Given the description of an element on the screen output the (x, y) to click on. 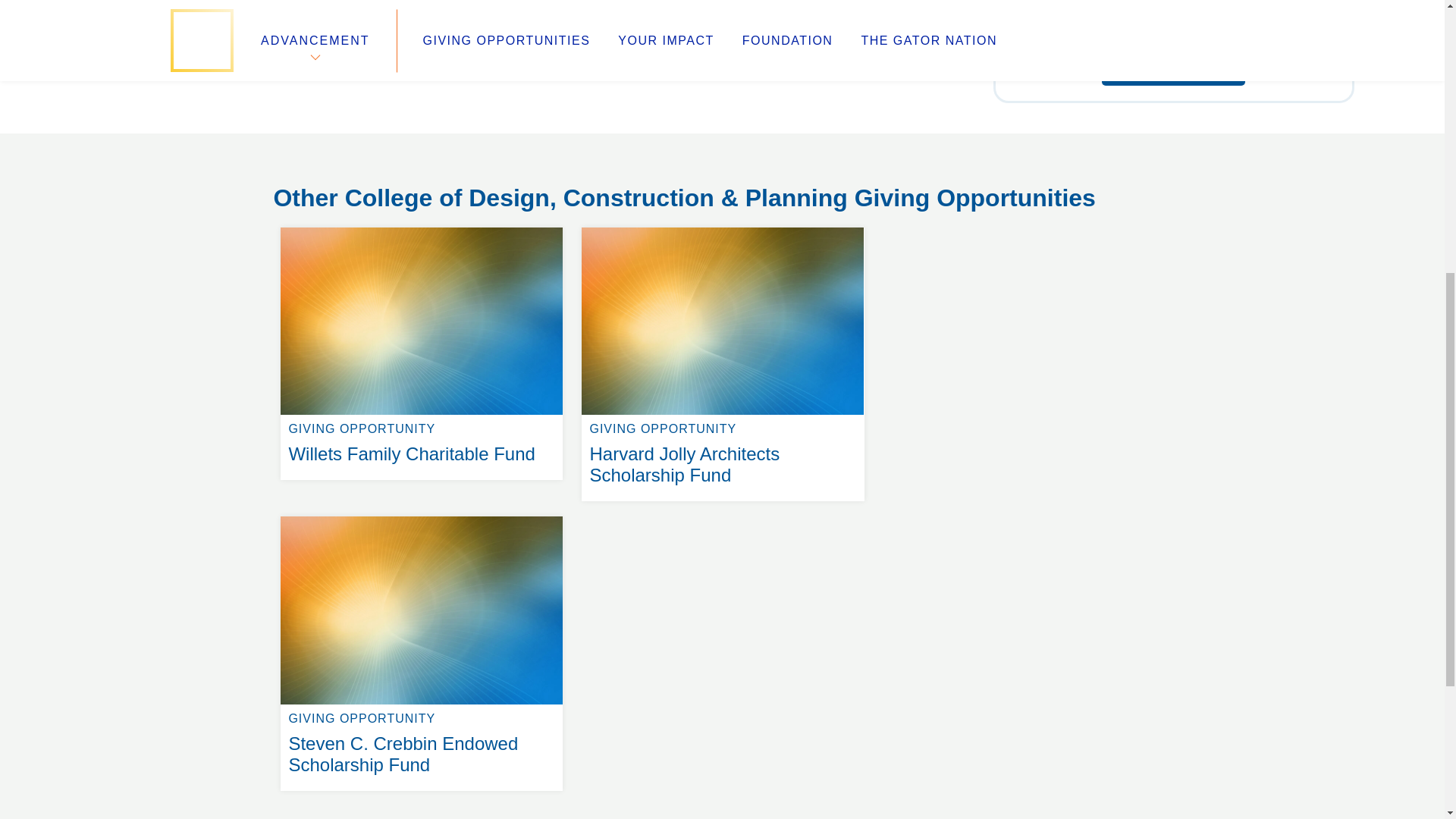
University of Florida (721, 227)
Advancement Toolkit (840, 148)
Privacy Policy (565, 166)
Complete My Gift (545, 184)
Foundation Board (1173, 69)
Join Our Team (327, 184)
Staff Directory (317, 148)
Advancement HUB (316, 166)
Disclosures (560, 148)
Contact Us (537, 202)
